Given the description of an element on the screen output the (x, y) to click on. 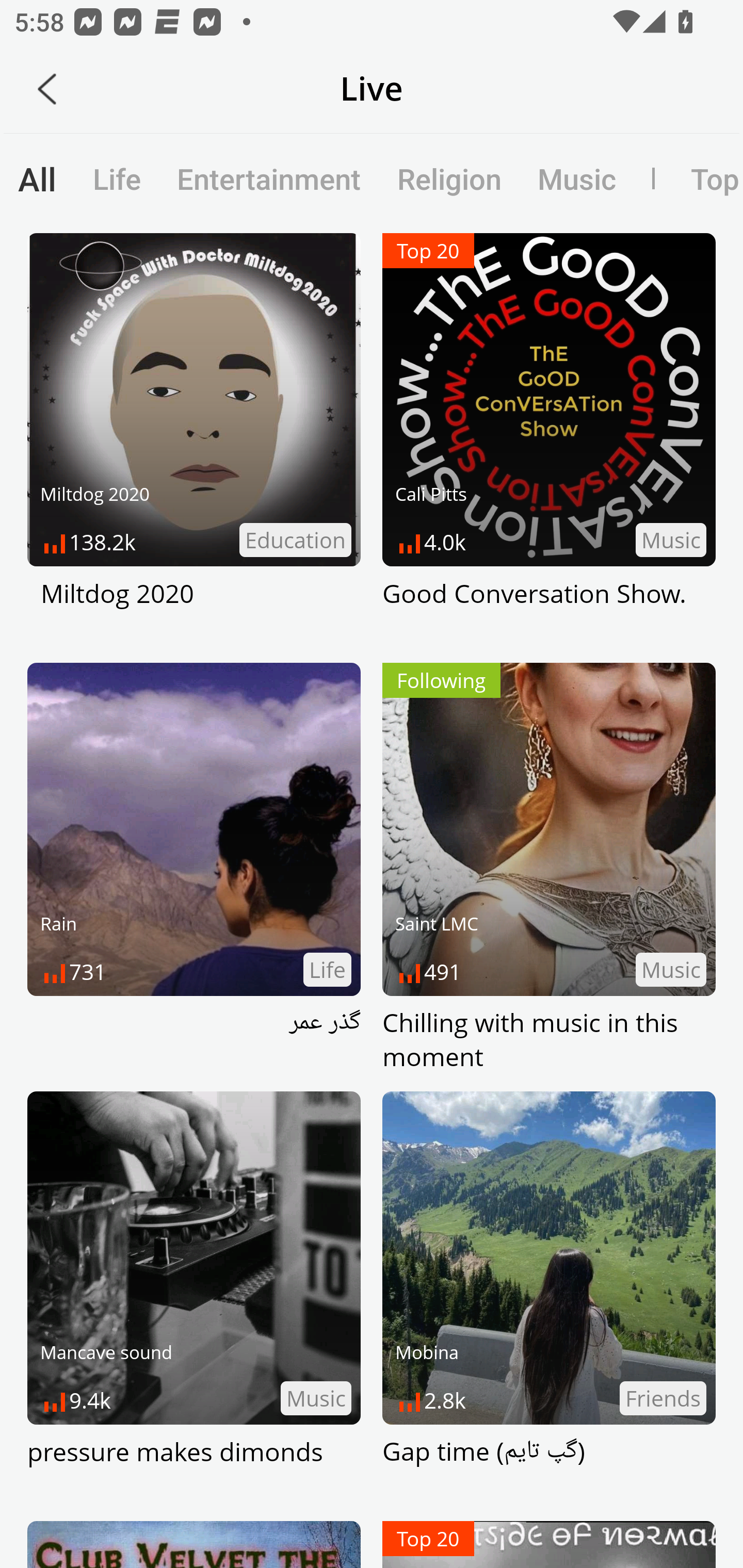
Back (46, 88)
Life (116, 178)
Entertainment (268, 178)
Religion (448, 178)
Music (576, 178)
Miltdog 2020 138.2k Education   Miltdog 2020  (193, 438)
Rain 731 Life گذر عمر  (193, 868)
Mancave sound 9.4k Music pressure makes dimonds (193, 1297)
Mobina 2.8k Friends Gap time (گپ تایم) (548, 1297)
